Given the description of an element on the screen output the (x, y) to click on. 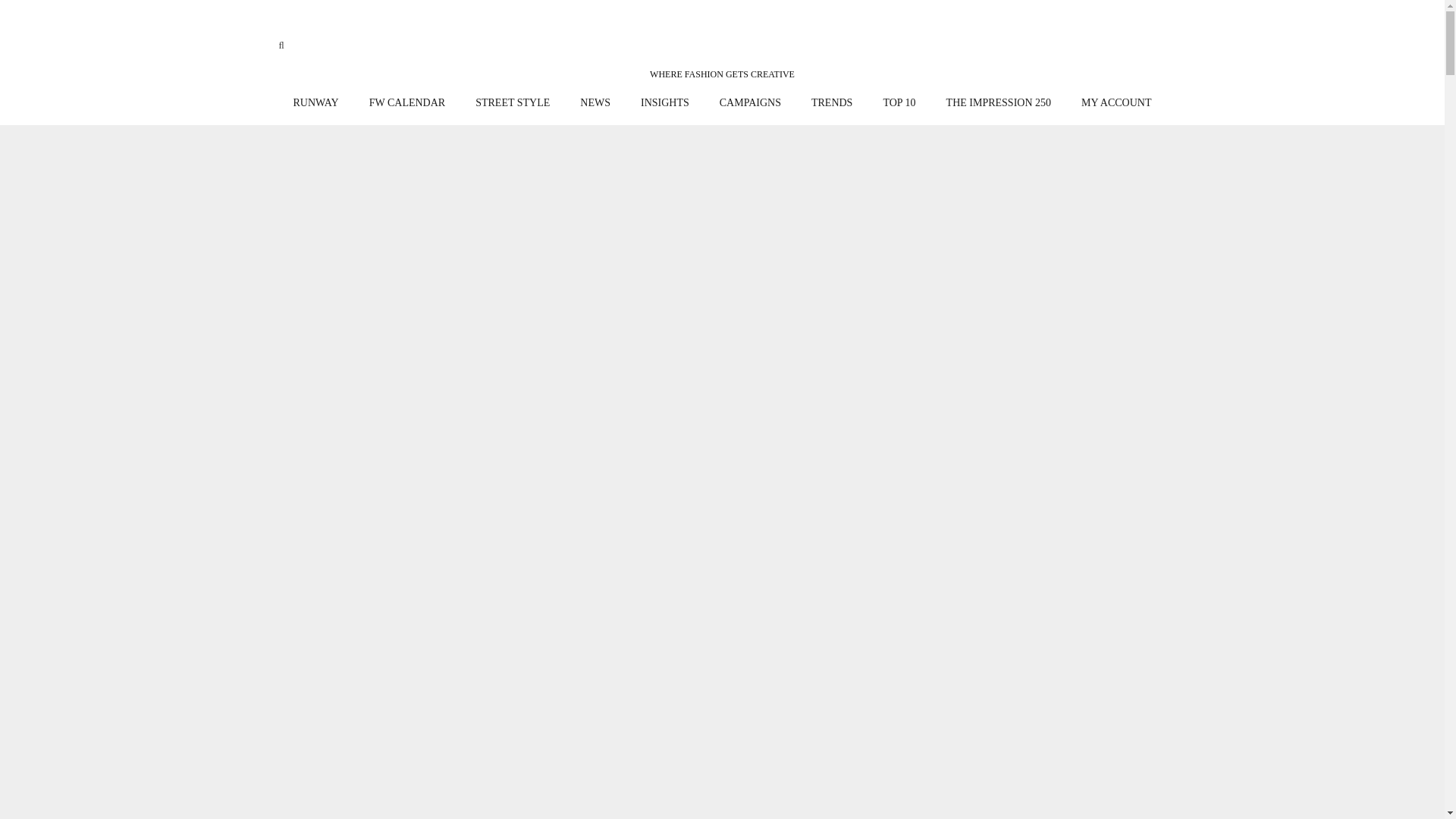
STREET STYLE (512, 103)
RUNWAY (315, 103)
CAMPAIGNS (750, 103)
NEWS (595, 103)
WHERE FASHION GETS CREATIVE (721, 51)
INSIGHTS (665, 103)
FW CALENDAR (406, 103)
